Given the description of an element on the screen output the (x, y) to click on. 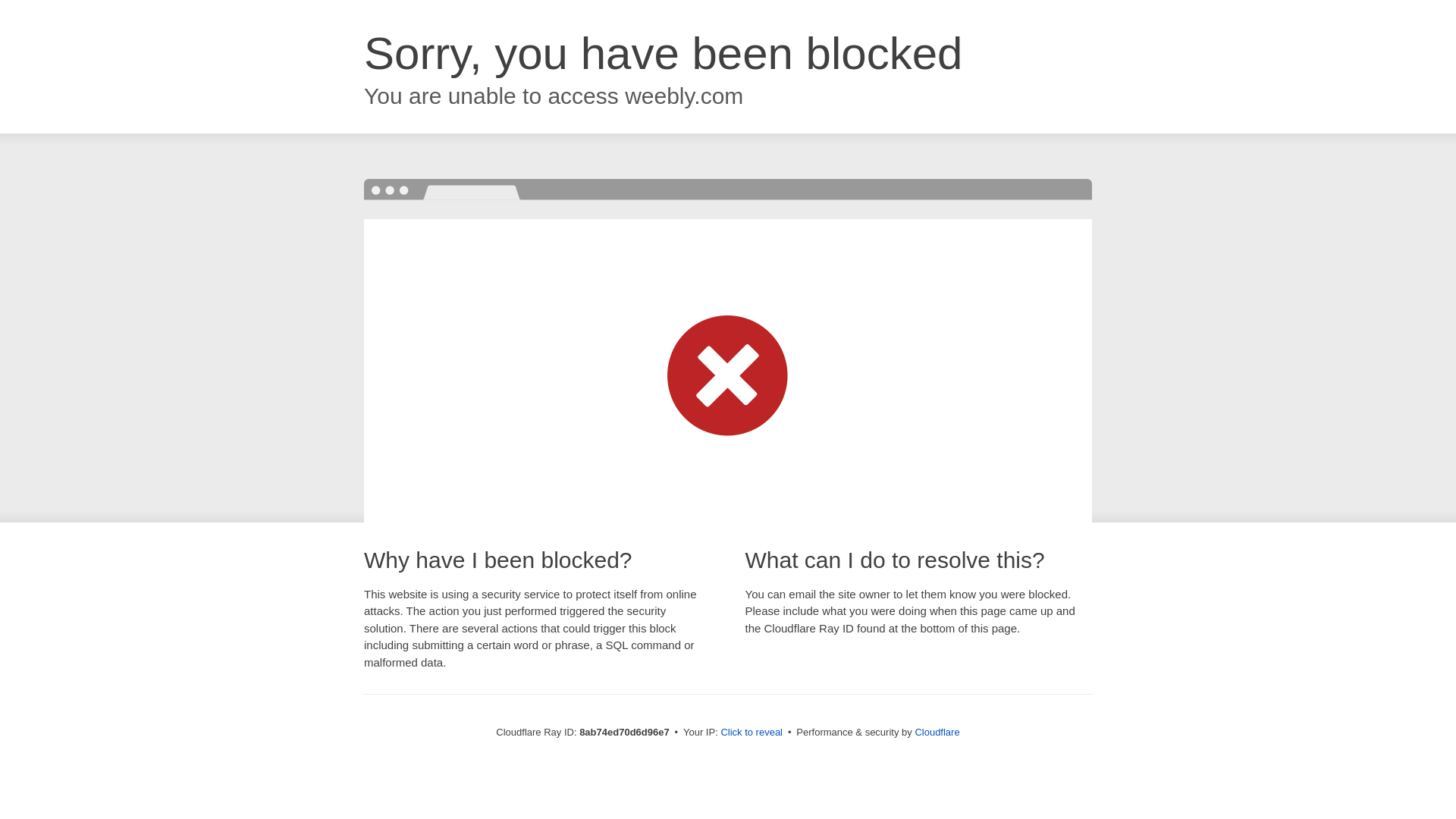
Click to reveal (751, 732)
Cloudflare (936, 731)
